Given the description of an element on the screen output the (x, y) to click on. 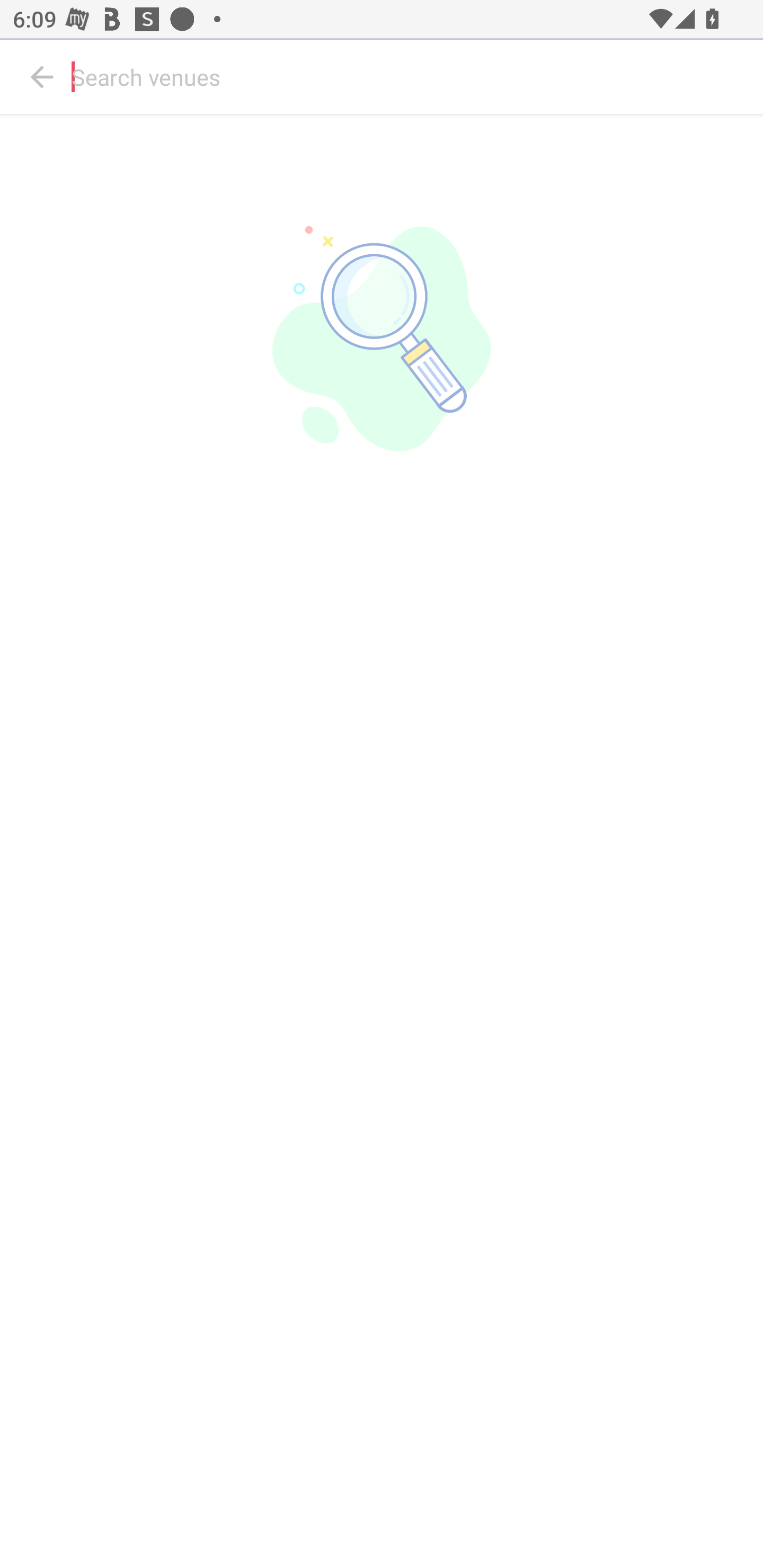
Back (42, 76)
Search venues (413, 76)
